Given the description of an element on the screen output the (x, y) to click on. 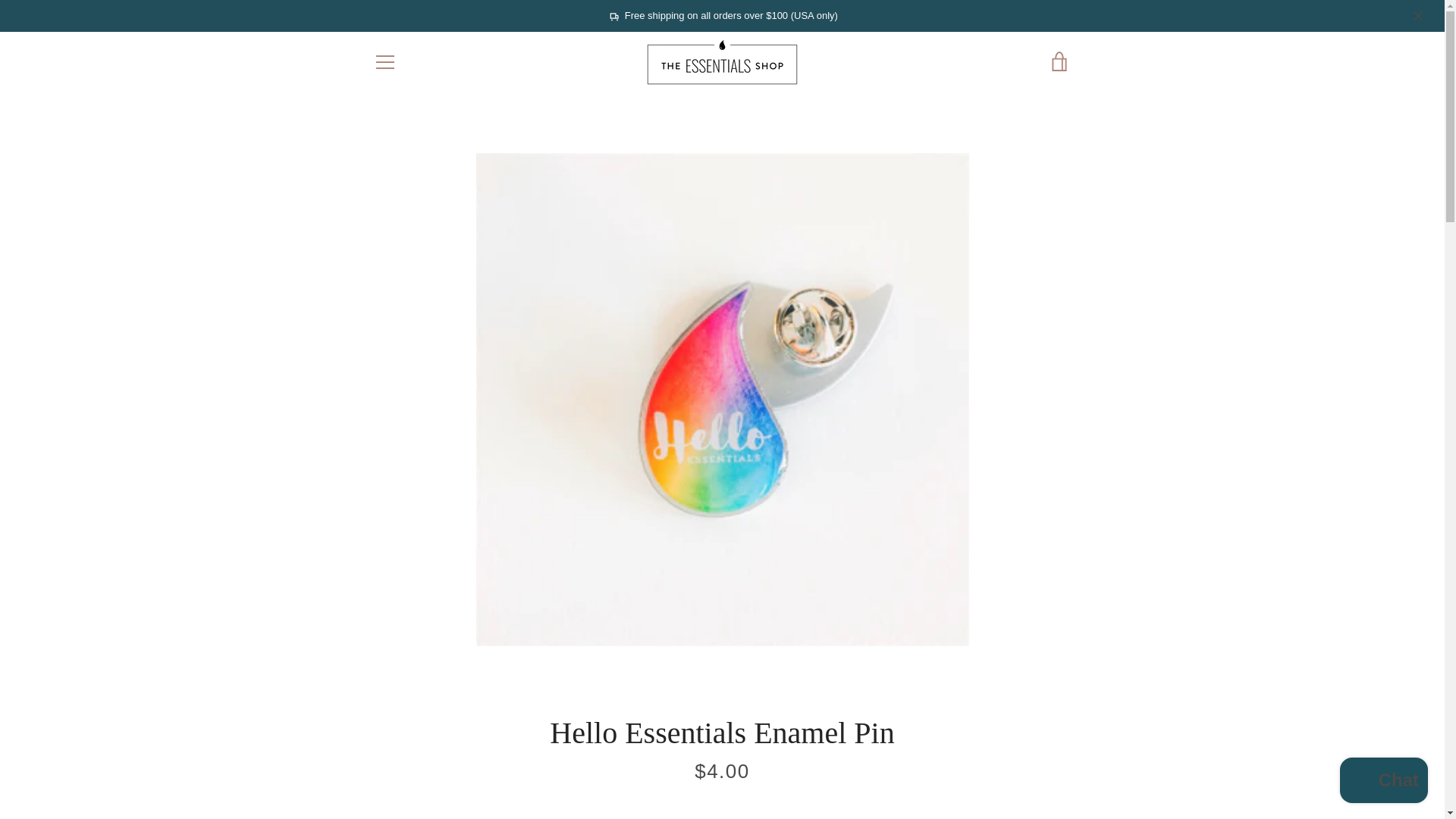
MENU (384, 62)
VIEW CART (1059, 62)
Shopify online store chat (1383, 781)
